Given the description of an element on the screen output the (x, y) to click on. 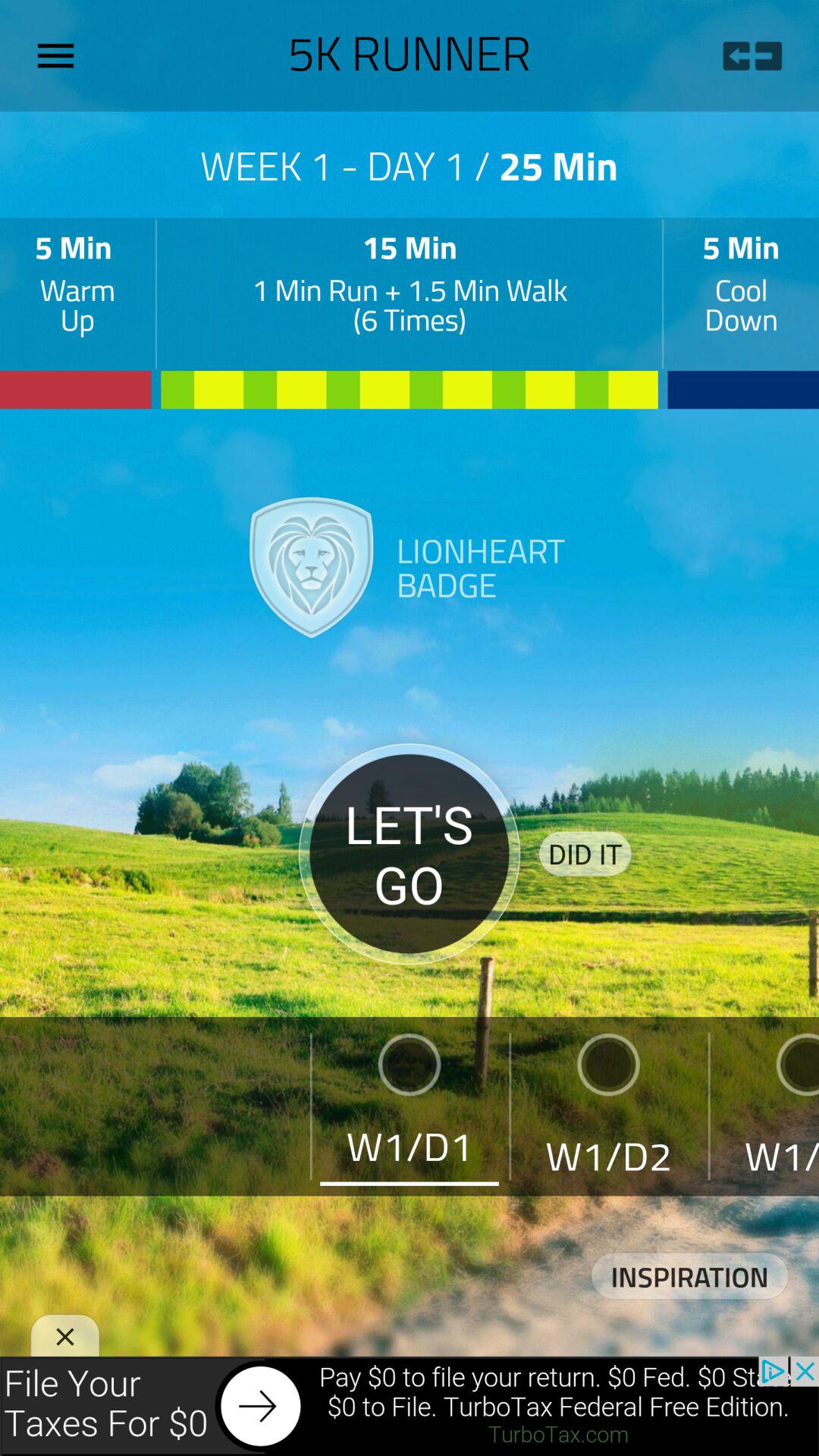
menu button (61, 55)
